Given the description of an element on the screen output the (x, y) to click on. 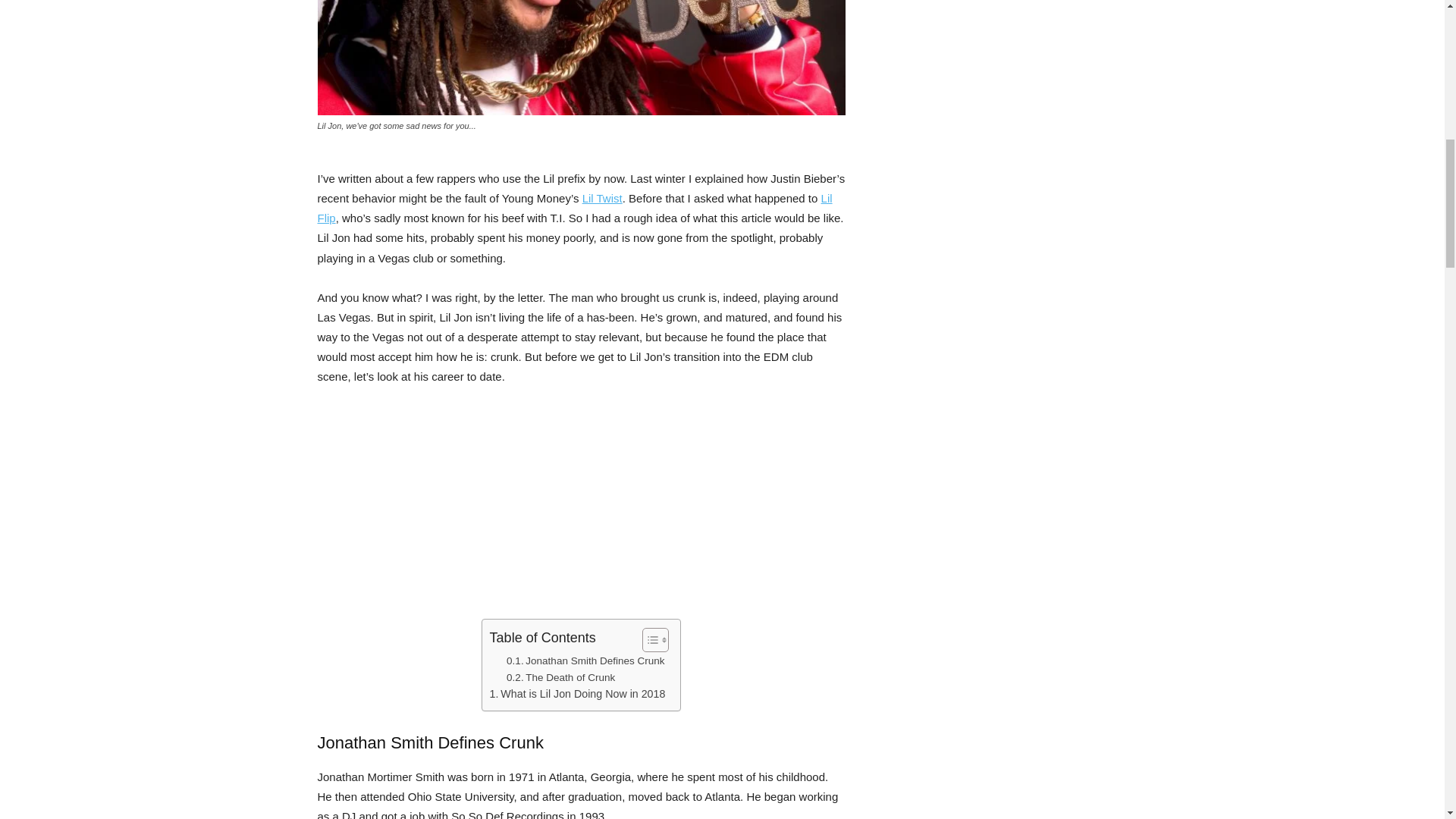
Lil Flip (574, 207)
Jonathan Smith Defines Crunk (584, 660)
Lil Twist (602, 197)
lil-jon-crunk-aint-dead-bling (580, 57)
The Death of Crunk (560, 677)
What is Lil Jon Doing Now in 2018 (577, 693)
